Given the description of an element on the screen output the (x, y) to click on. 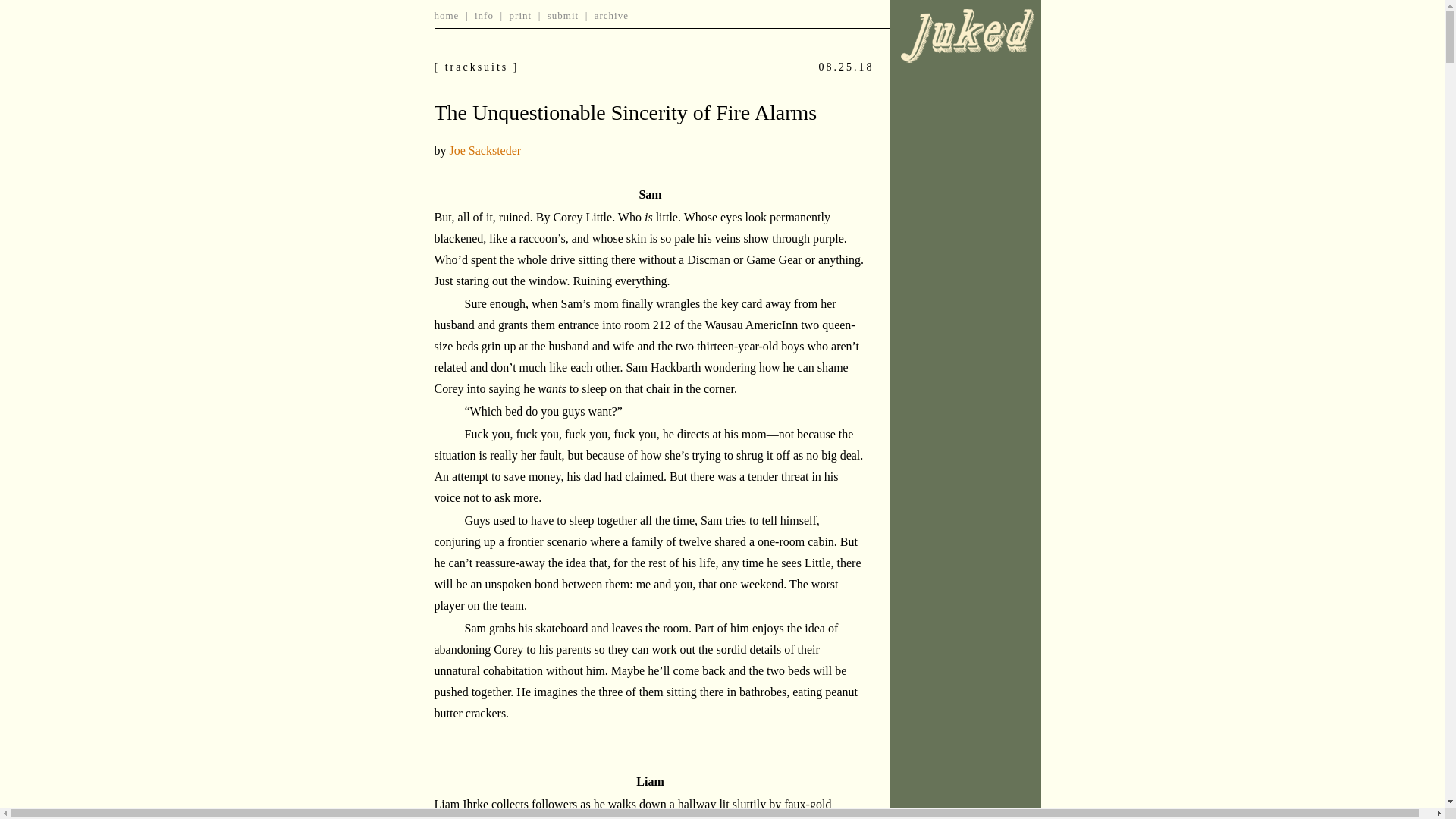
Joe Sacksteder (484, 150)
submit (562, 15)
home (445, 15)
print (520, 15)
info (483, 15)
archive (611, 15)
